Given the description of an element on the screen output the (x, y) to click on. 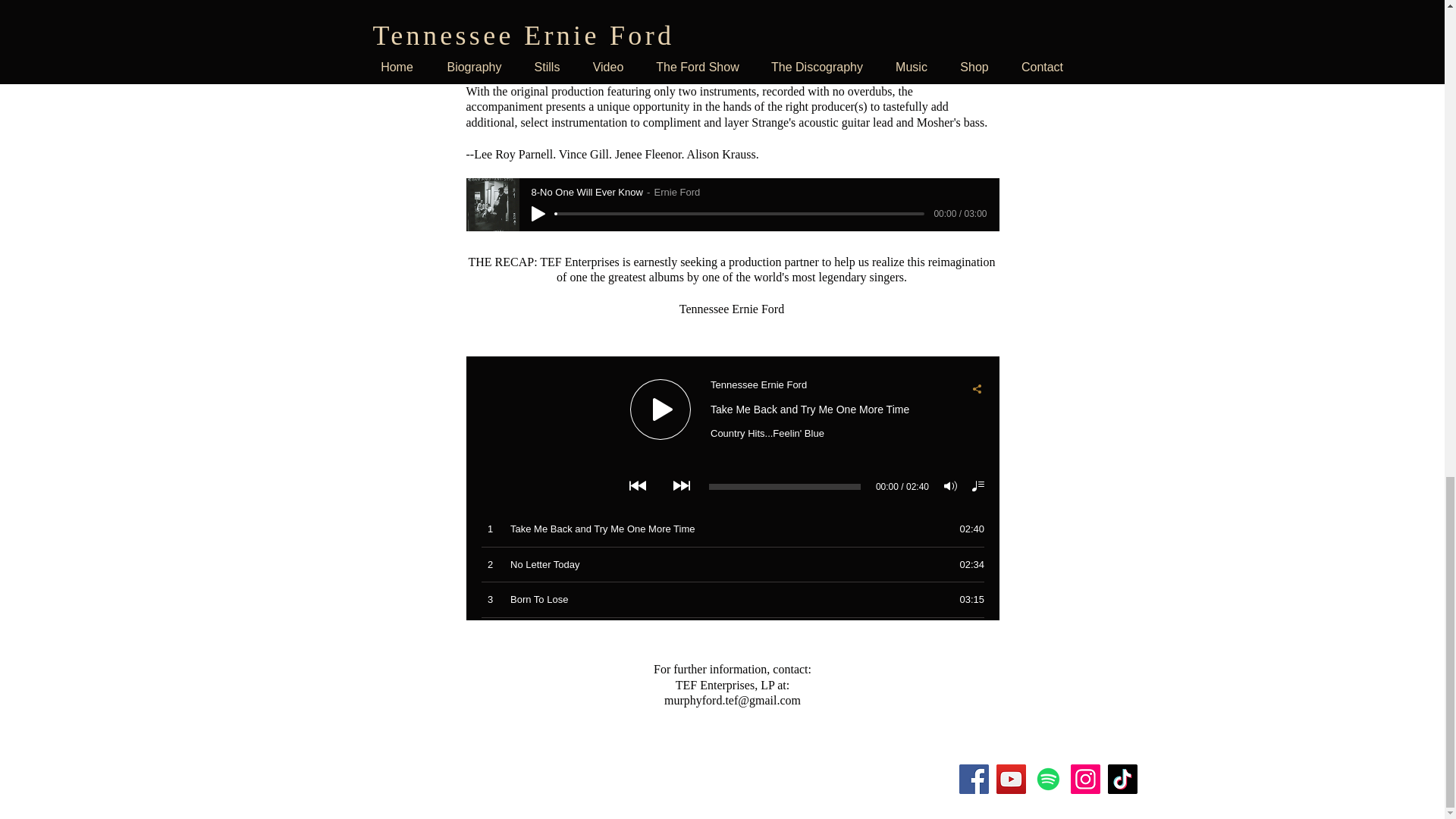
0 (739, 46)
0 (739, 213)
